Given the description of an element on the screen output the (x, y) to click on. 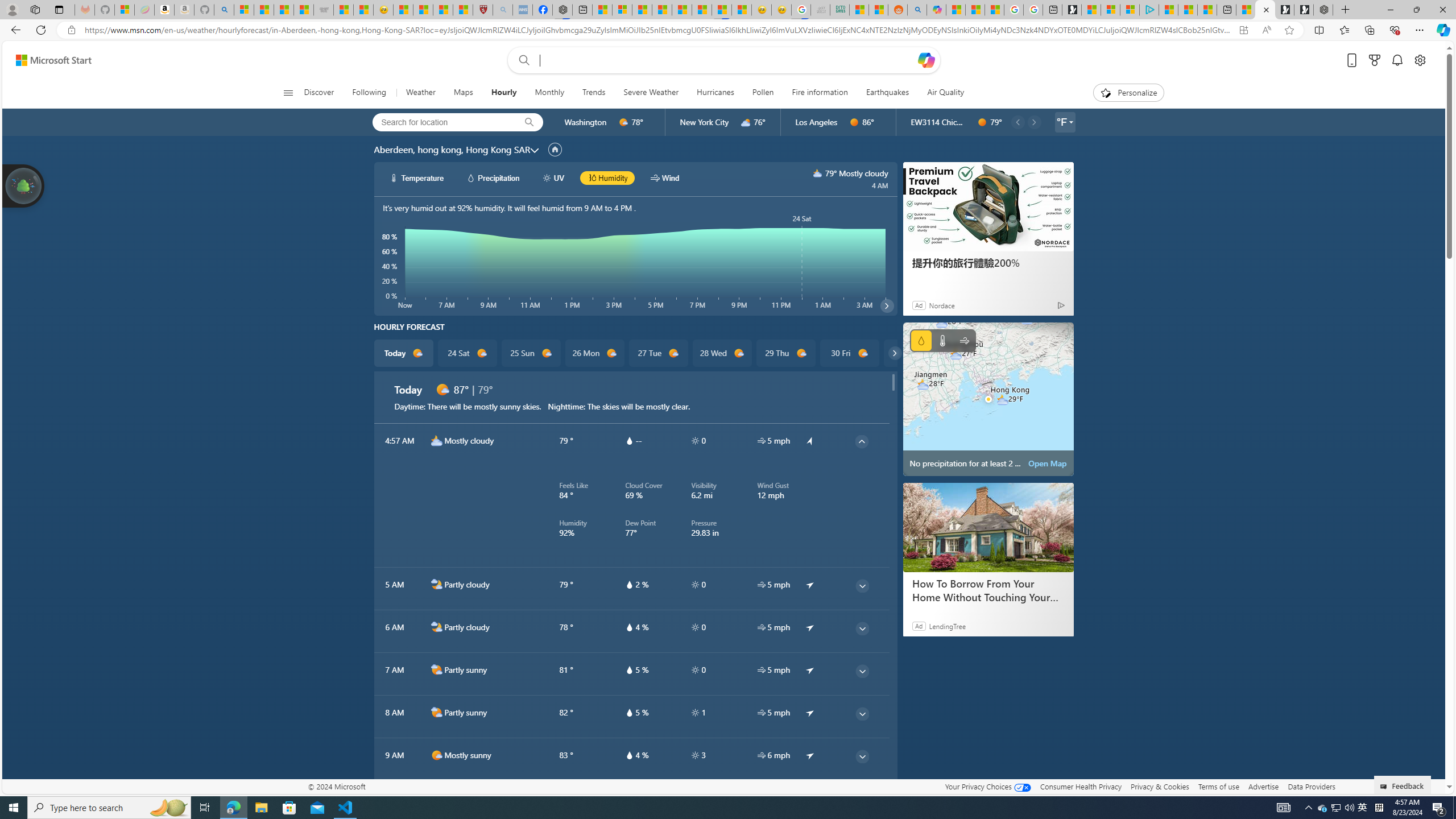
LendingTree (946, 625)
locationName/setHomeLocation (555, 149)
25 Sun d1000 (530, 352)
Trends (593, 92)
common/carouselChevron (895, 353)
d2000 (436, 712)
Air Quality (945, 92)
Privacy & Cookies (1160, 786)
